Given the description of an element on the screen output the (x, y) to click on. 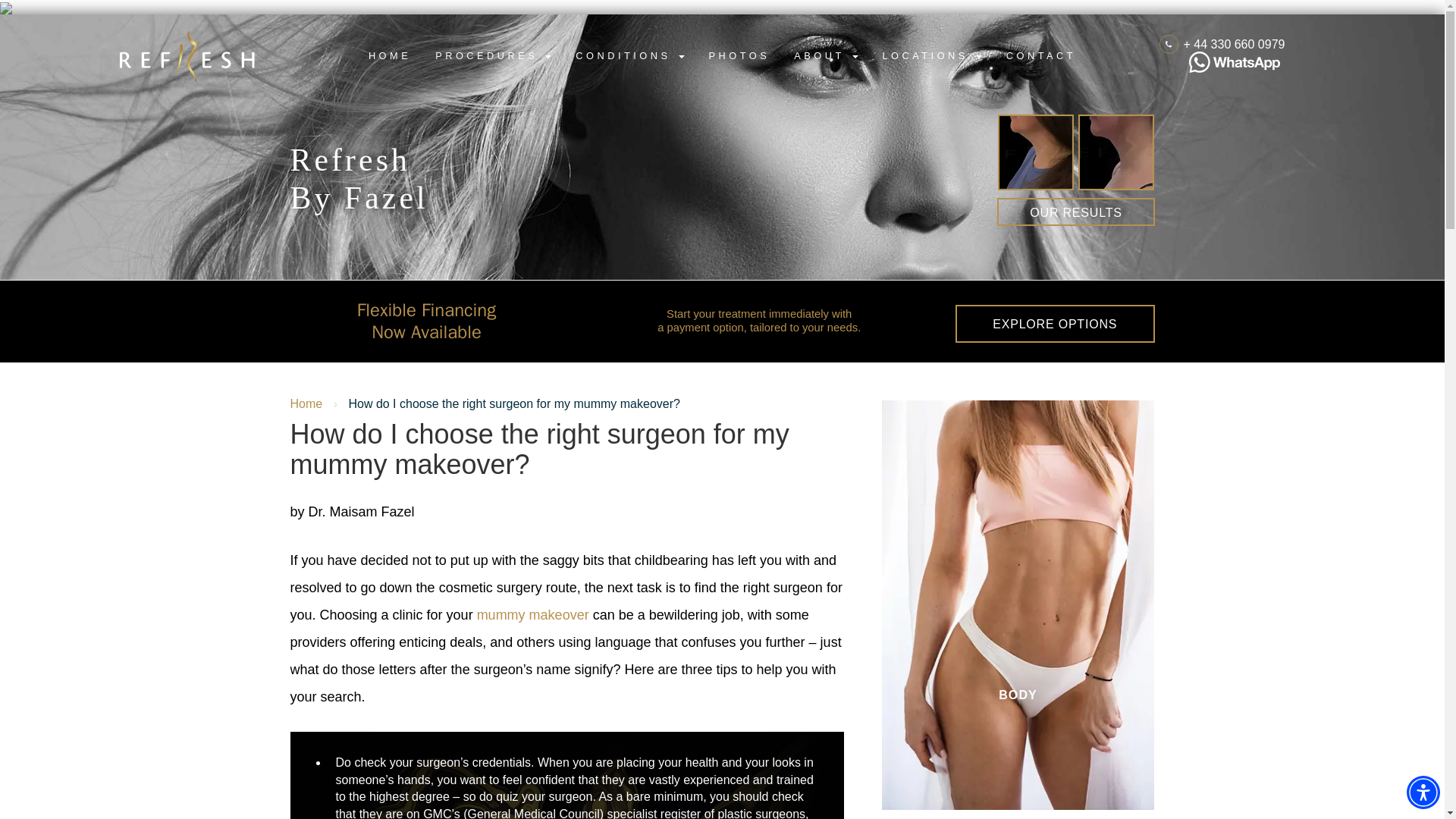
Accessibility Menu (1422, 792)
